Given the description of an element on the screen output the (x, y) to click on. 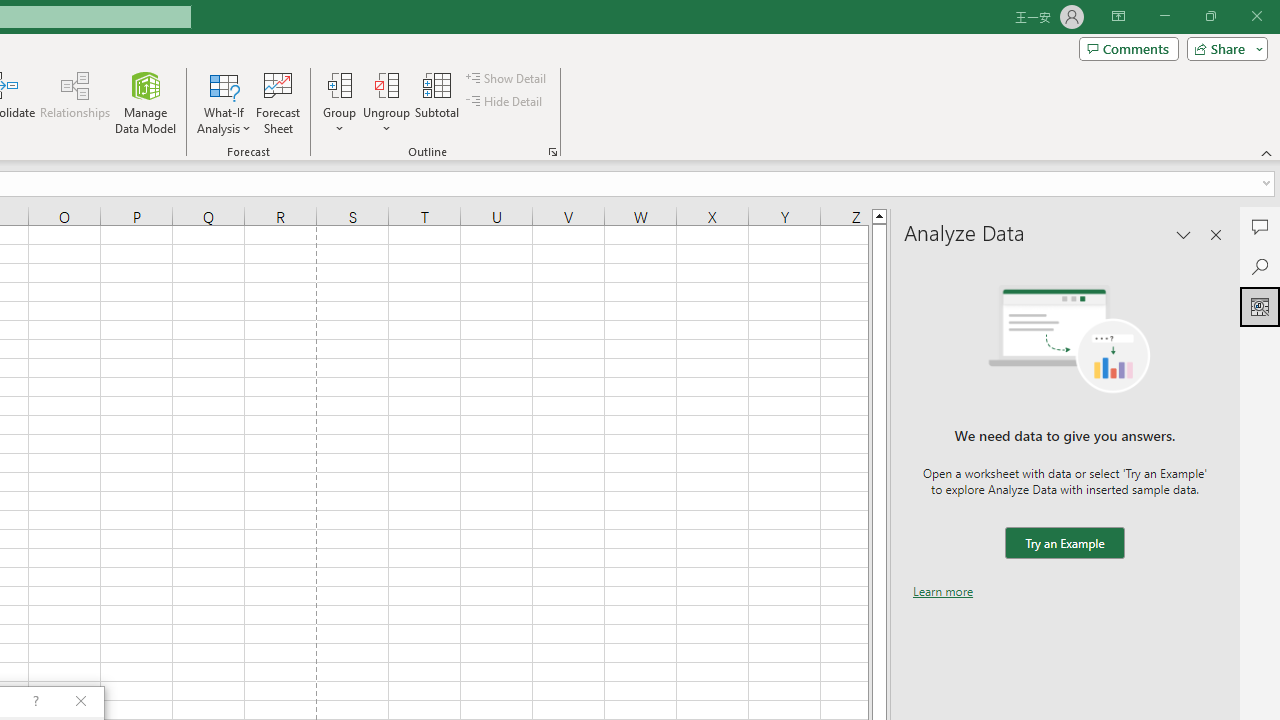
We need data to give you answers. Try an Example (1064, 543)
Analyze Data (1260, 306)
Relationships (75, 102)
Subtotal (437, 102)
